Given the description of an element on the screen output the (x, y) to click on. 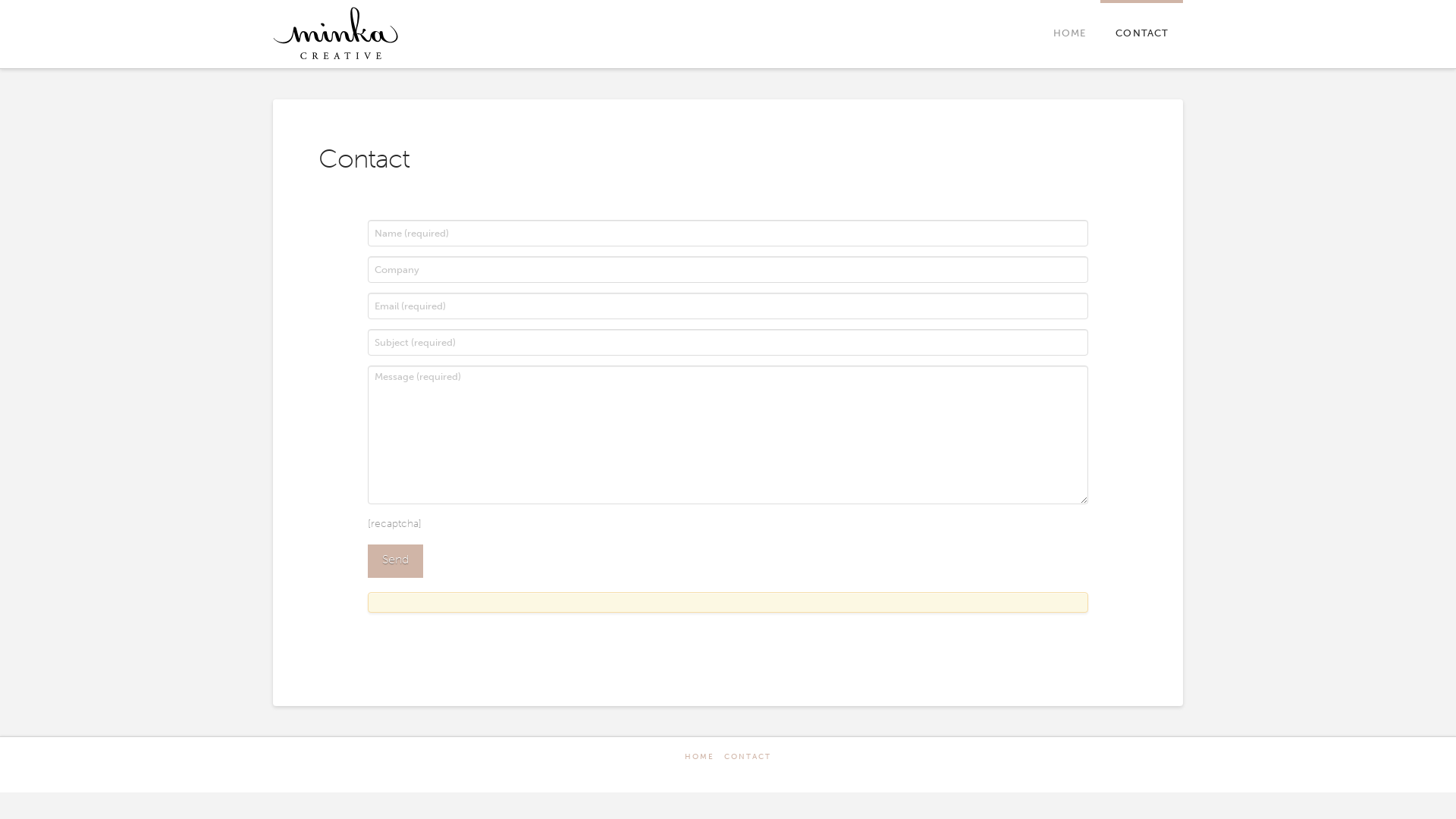
Send Element type: text (395, 561)
CONTACT Element type: text (747, 757)
CONTACT Element type: text (1141, 34)
Creative Design Solutions Element type: hover (335, 33)
HOME Element type: text (1069, 34)
HOME Element type: text (699, 757)
